Given the description of an element on the screen output the (x, y) to click on. 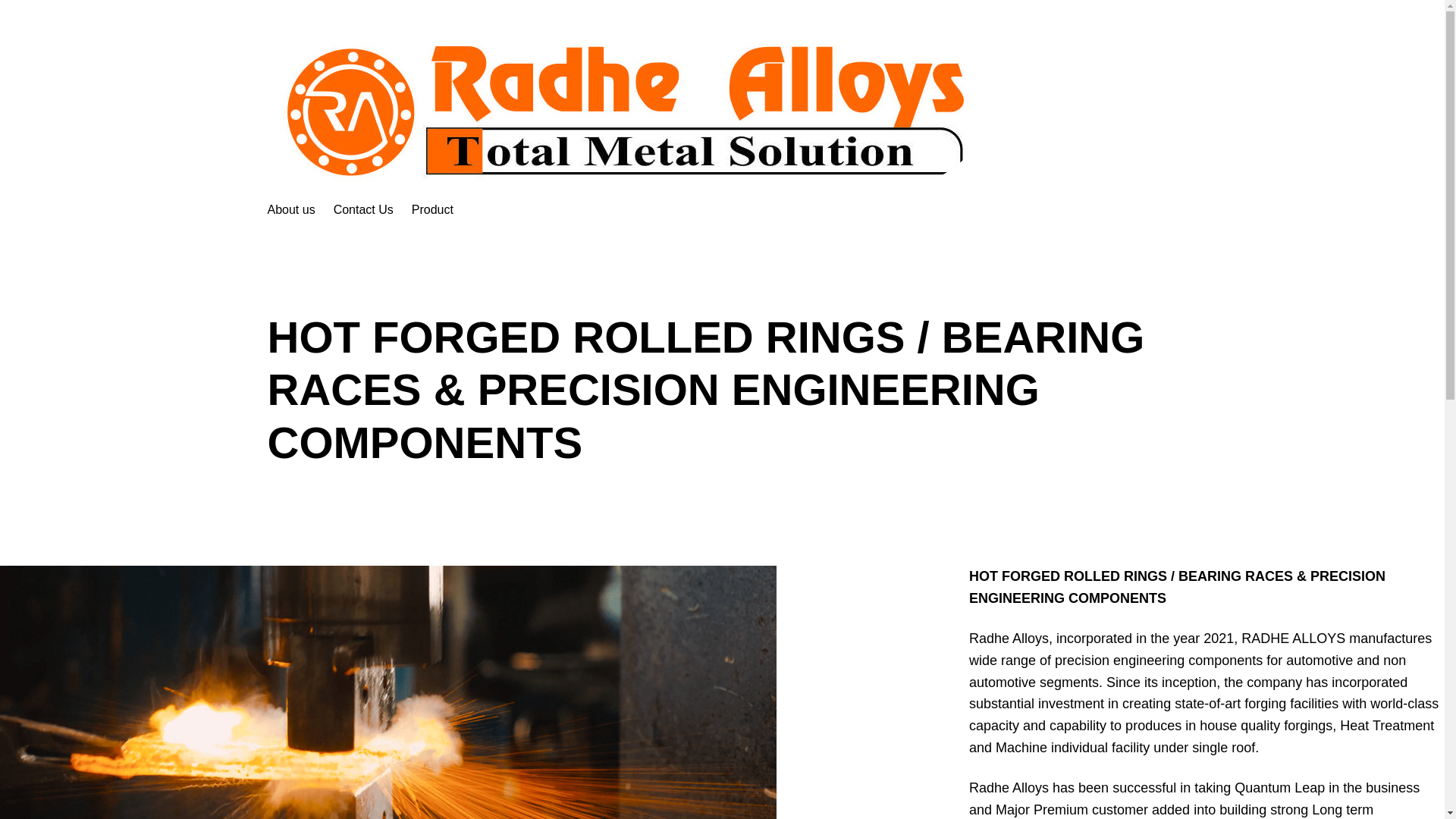
Contact Us (363, 209)
About us (290, 209)
Product (432, 209)
